Given the description of an element on the screen output the (x, y) to click on. 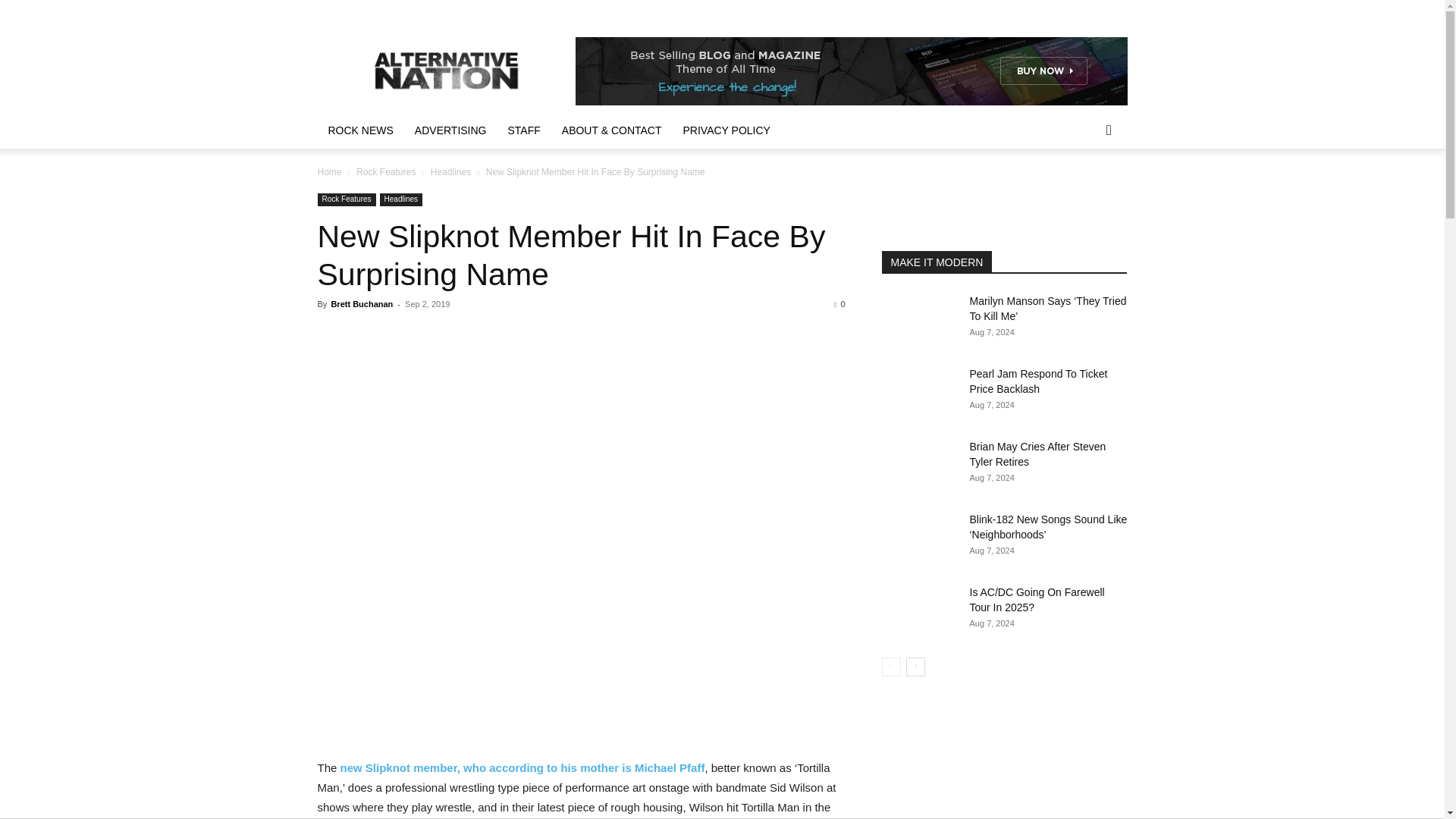
STAFF (524, 130)
0 (839, 303)
Search (1085, 191)
ADVERTISING (450, 130)
View all posts in Headlines (450, 172)
ROCK NEWS (360, 130)
Headlines (450, 172)
View all posts in Rock Features (385, 172)
Brett Buchanan (361, 303)
